Given the description of an element on the screen output the (x, y) to click on. 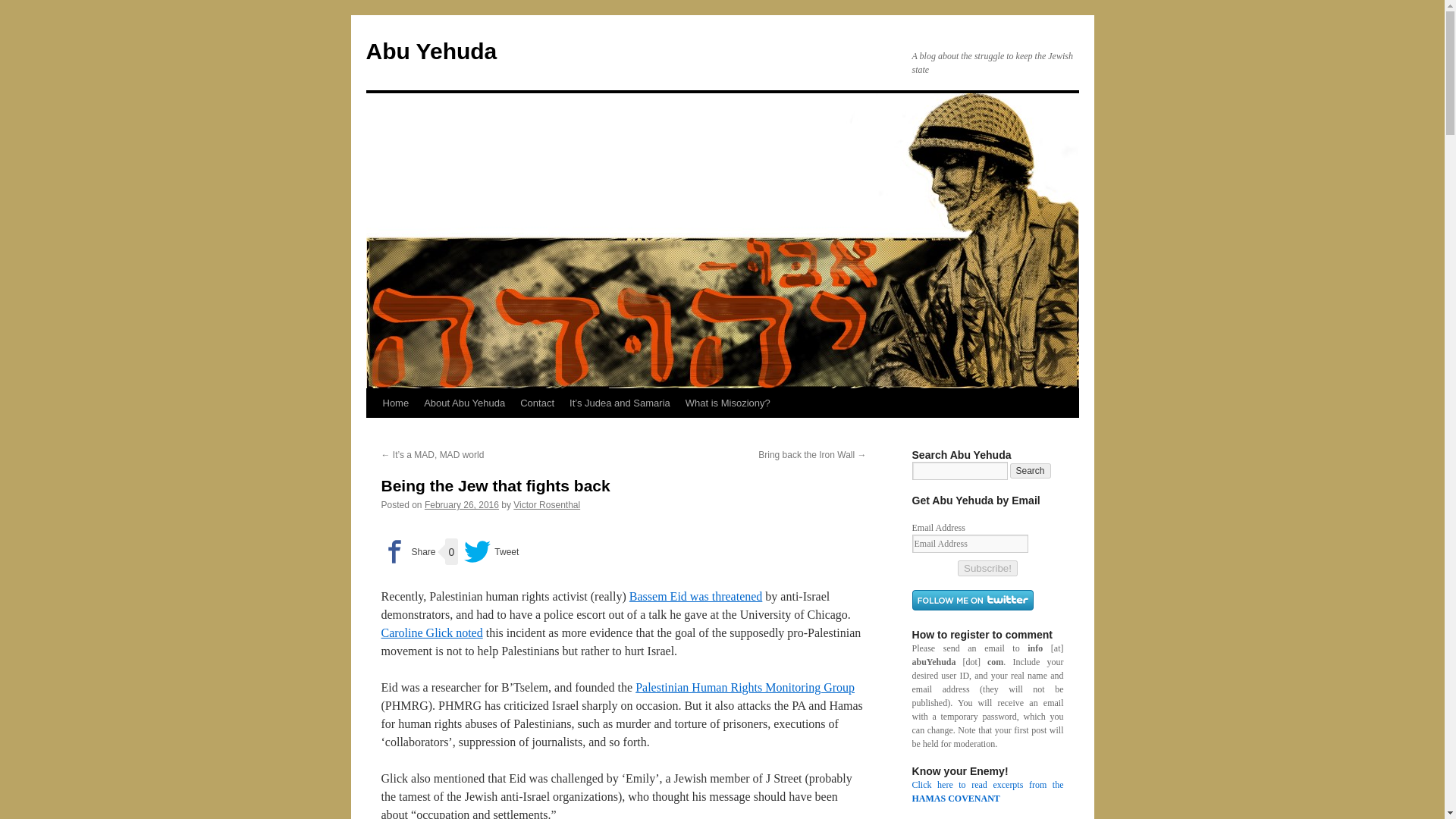
Caroline Glick noted (430, 632)
Abu Yehuda (430, 50)
Contact (537, 403)
What is Misoziony? (727, 403)
February 26, 2016 (462, 504)
Search (1030, 470)
Subscribe! (987, 568)
Palestinian Human Rights Monitoring Group (744, 686)
3:00 am (462, 504)
View all posts by Victor Rosenthal (546, 504)
Hamas Covenant excerpts (986, 791)
About Abu Yehuda (464, 403)
Search (1030, 470)
Share on Facebook (407, 551)
Victor Rosenthal (546, 504)
